Given the description of an element on the screen output the (x, y) to click on. 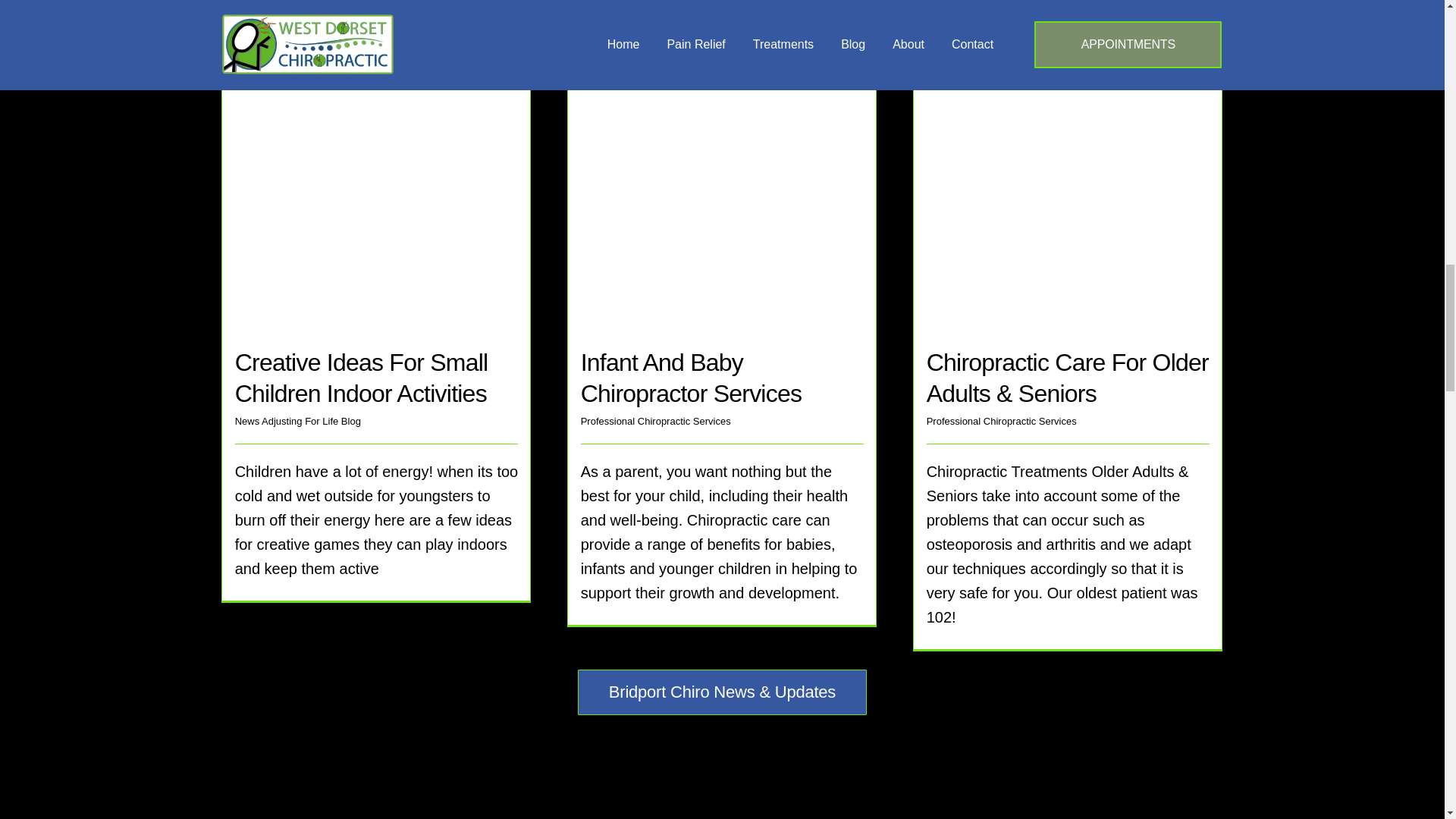
Professional Chiropractic Services (655, 420)
Infant And Baby Chiropractor Services (691, 377)
News Adjusting For Life Blog (297, 420)
Professional Chiropractic Services (1001, 420)
Creative Ideas For Small Children Indoor Activities (360, 377)
